Given the description of an element on the screen output the (x, y) to click on. 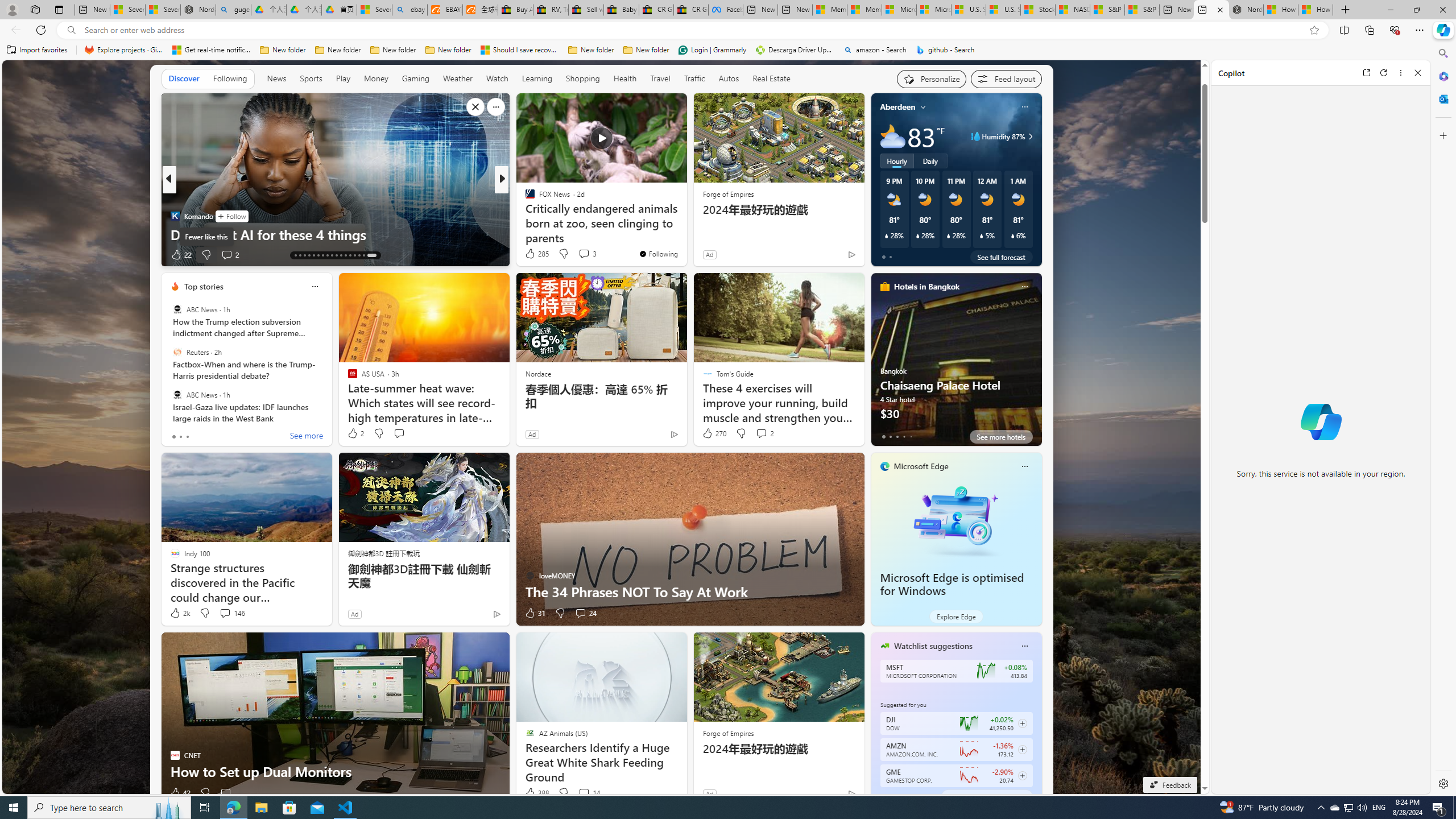
AutomationID: tab-22 (336, 255)
Microsoft Edge is optimised for Windows (955, 519)
Import favorites (36, 49)
View comments 146 Comment (231, 612)
Weather (457, 78)
tab-0 (882, 795)
hotels-header-icon (884, 286)
Open link in new tab (1366, 72)
Personalize your feed" (931, 78)
S&P 500, Nasdaq end lower, weighed by Nvidia dip | Watch (1141, 9)
